Given the description of an element on the screen output the (x, y) to click on. 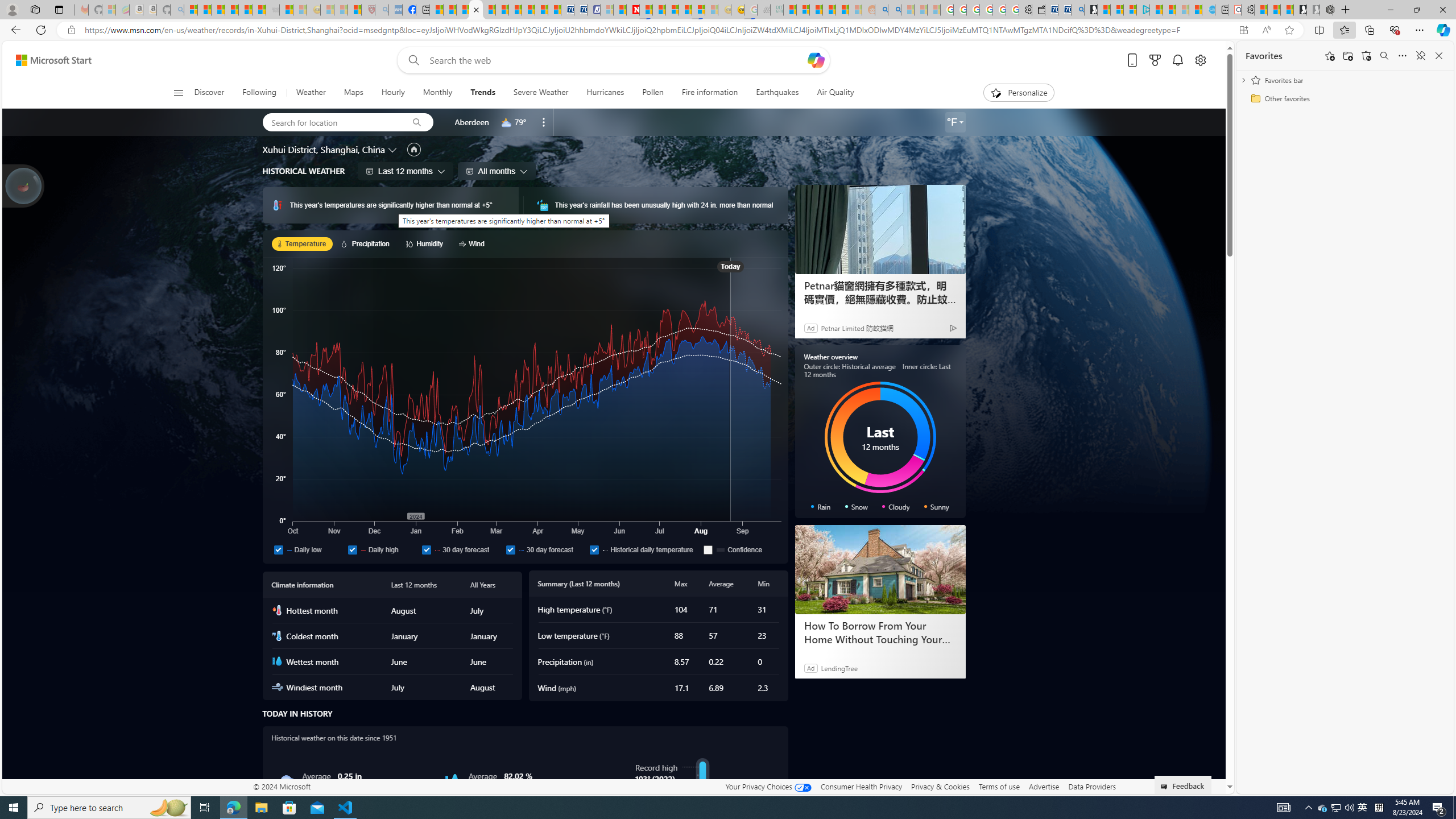
The Weather Channel - MSN (218, 9)
All months (496, 170)
30 day forecast (545, 549)
Xuhui District, Shanghai, China (323, 149)
Daily low (308, 549)
Data Providers (1091, 786)
